Given the description of an element on the screen output the (x, y) to click on. 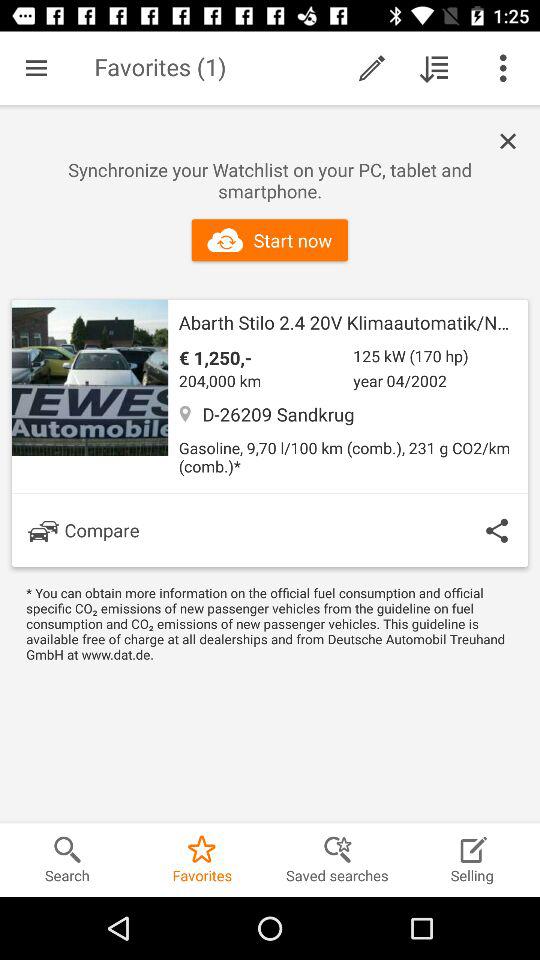
turn on the item to the left of favorites (1) (36, 68)
